Given the description of an element on the screen output the (x, y) to click on. 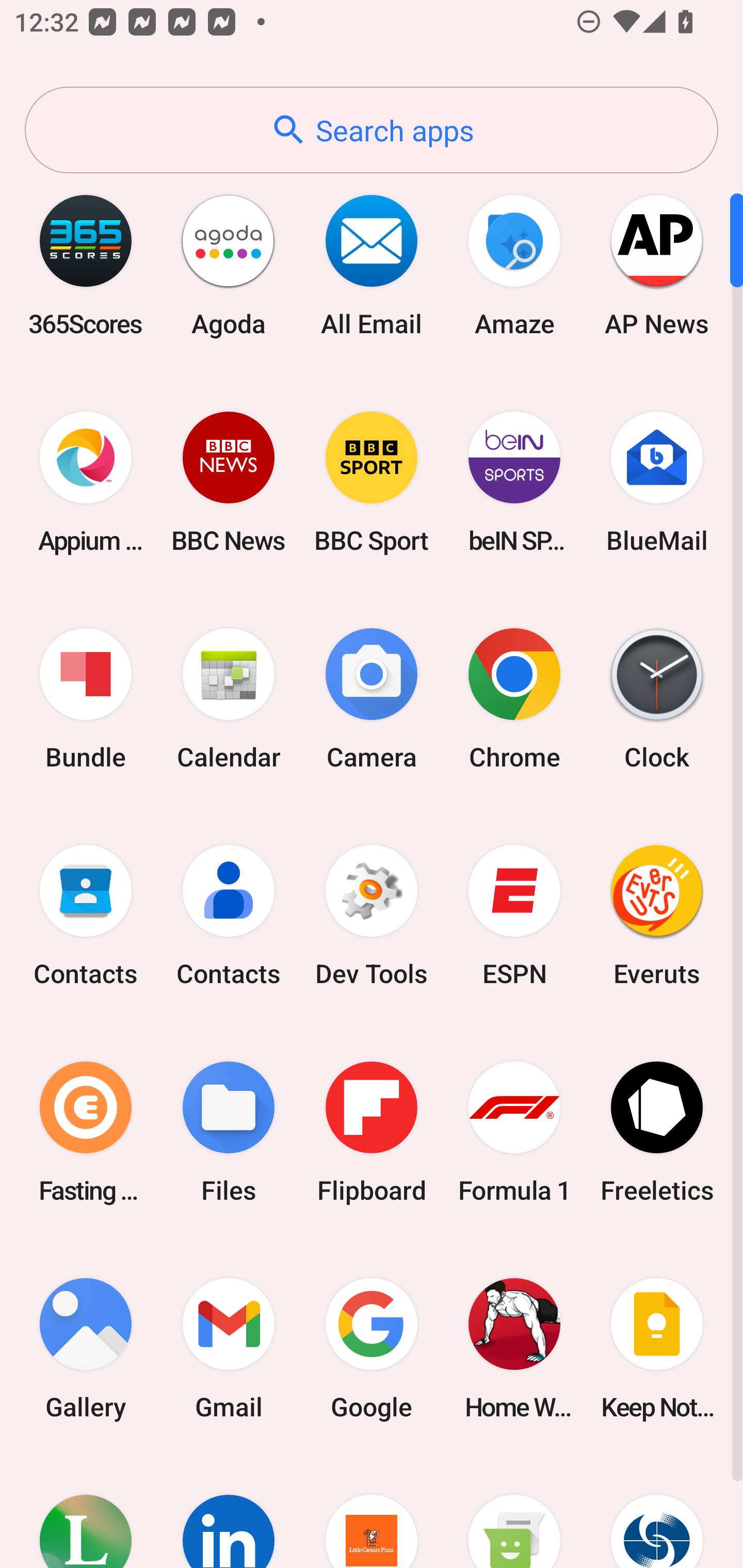
  Search apps (371, 130)
365Scores (85, 264)
Agoda (228, 264)
All Email (371, 264)
Amaze (514, 264)
AP News (656, 264)
Appium Settings (85, 482)
BBC News (228, 482)
BBC Sport (371, 482)
beIN SPORTS (514, 482)
BlueMail (656, 482)
Bundle (85, 699)
Calendar (228, 699)
Camera (371, 699)
Chrome (514, 699)
Clock (656, 699)
Contacts (85, 915)
Contacts (228, 915)
Dev Tools (371, 915)
ESPN (514, 915)
Everuts (656, 915)
Fasting Coach (85, 1131)
Files (228, 1131)
Flipboard (371, 1131)
Formula 1 (514, 1131)
Freeletics (656, 1131)
Gallery (85, 1348)
Gmail (228, 1348)
Google (371, 1348)
Home Workout (514, 1348)
Keep Notes (656, 1348)
